Given the description of an element on the screen output the (x, y) to click on. 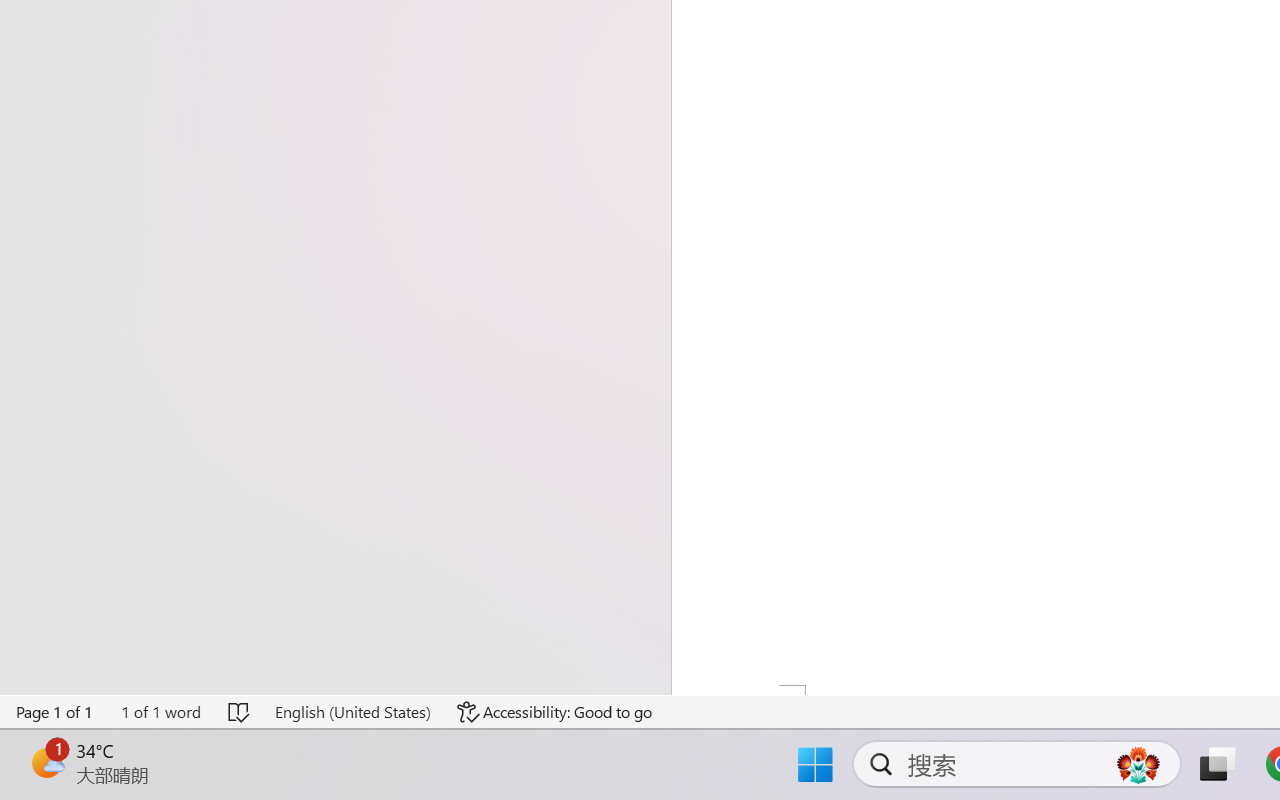
Page Number Page 1 of 1 (55, 712)
